Given the description of an element on the screen output the (x, y) to click on. 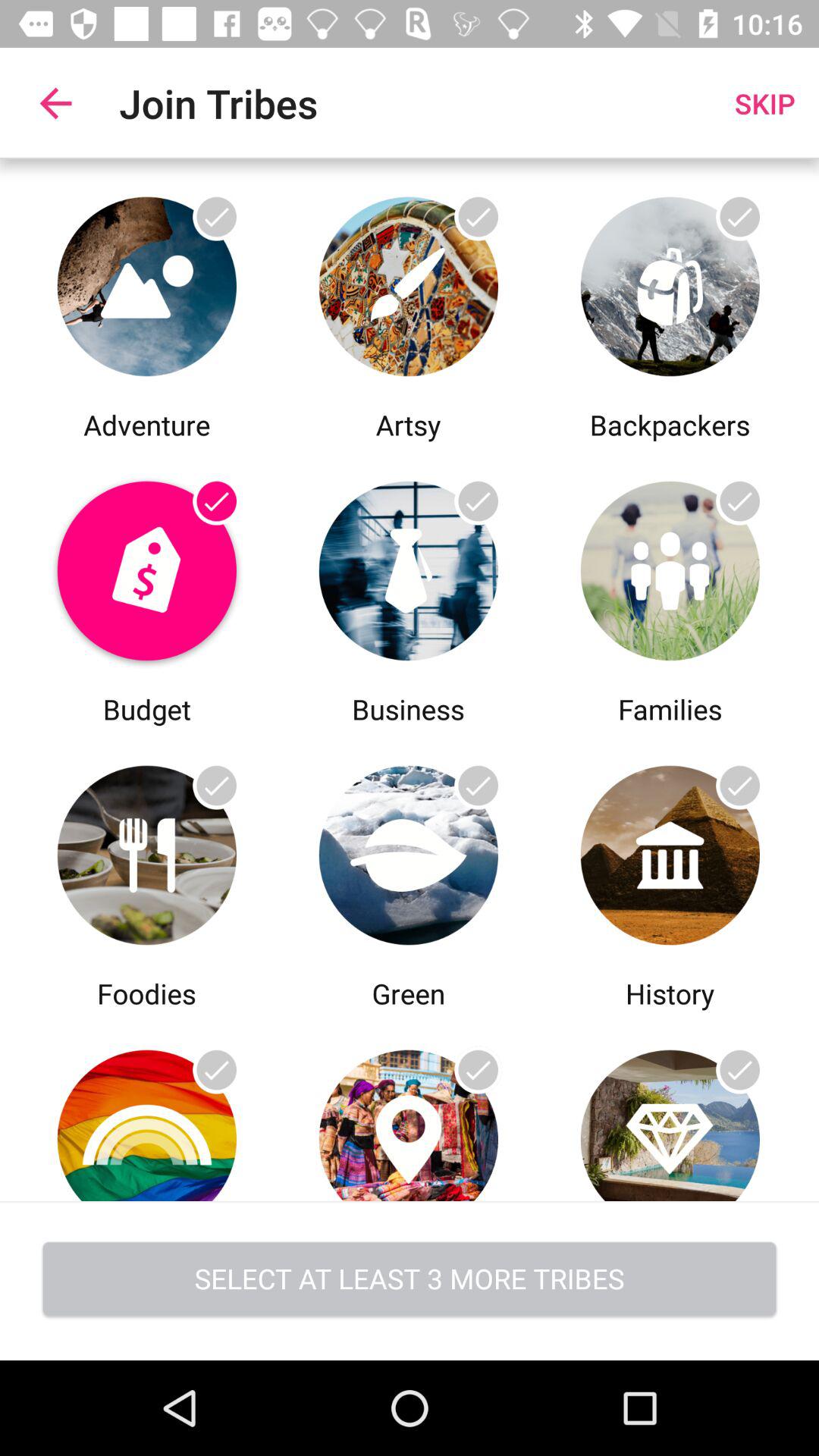
select the article (669, 566)
